Given the description of an element on the screen output the (x, y) to click on. 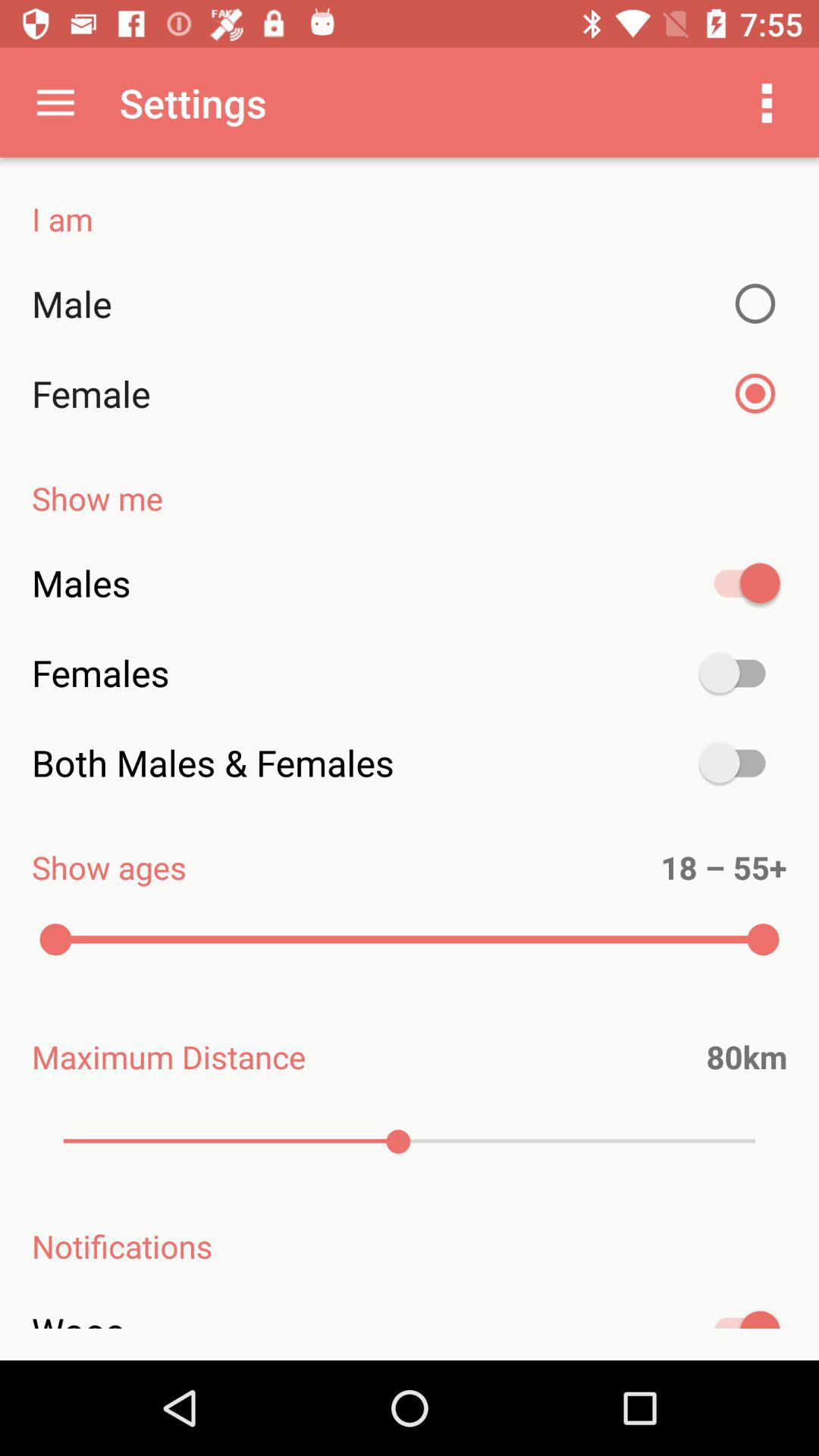
tap item above the female (409, 303)
